Given the description of an element on the screen output the (x, y) to click on. 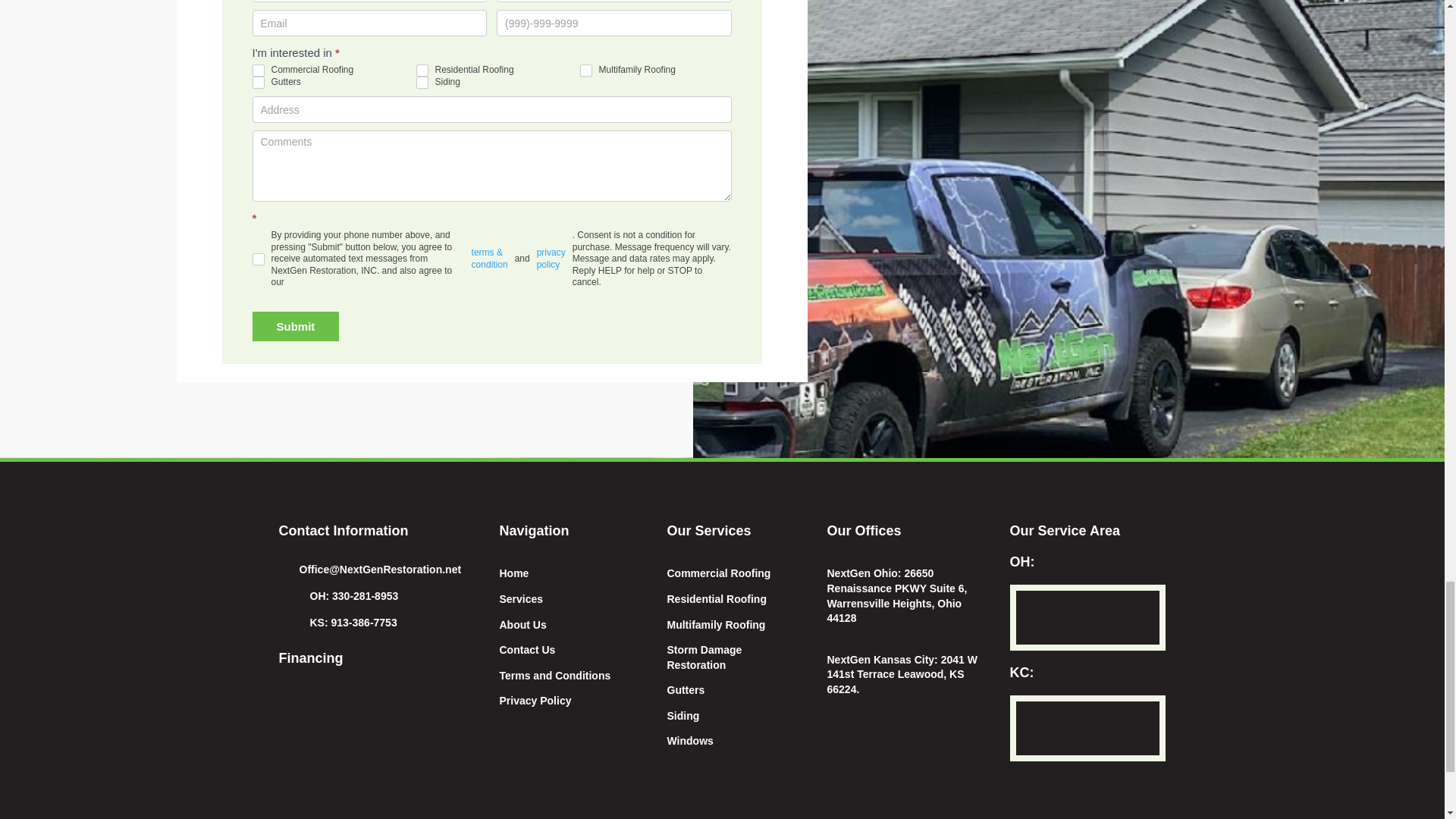
Siding (422, 82)
Residential Roofing (422, 70)
Gutters (257, 82)
Commercial Roofing (257, 70)
Multifamily Roofing (585, 70)
